Given the description of an element on the screen output the (x, y) to click on. 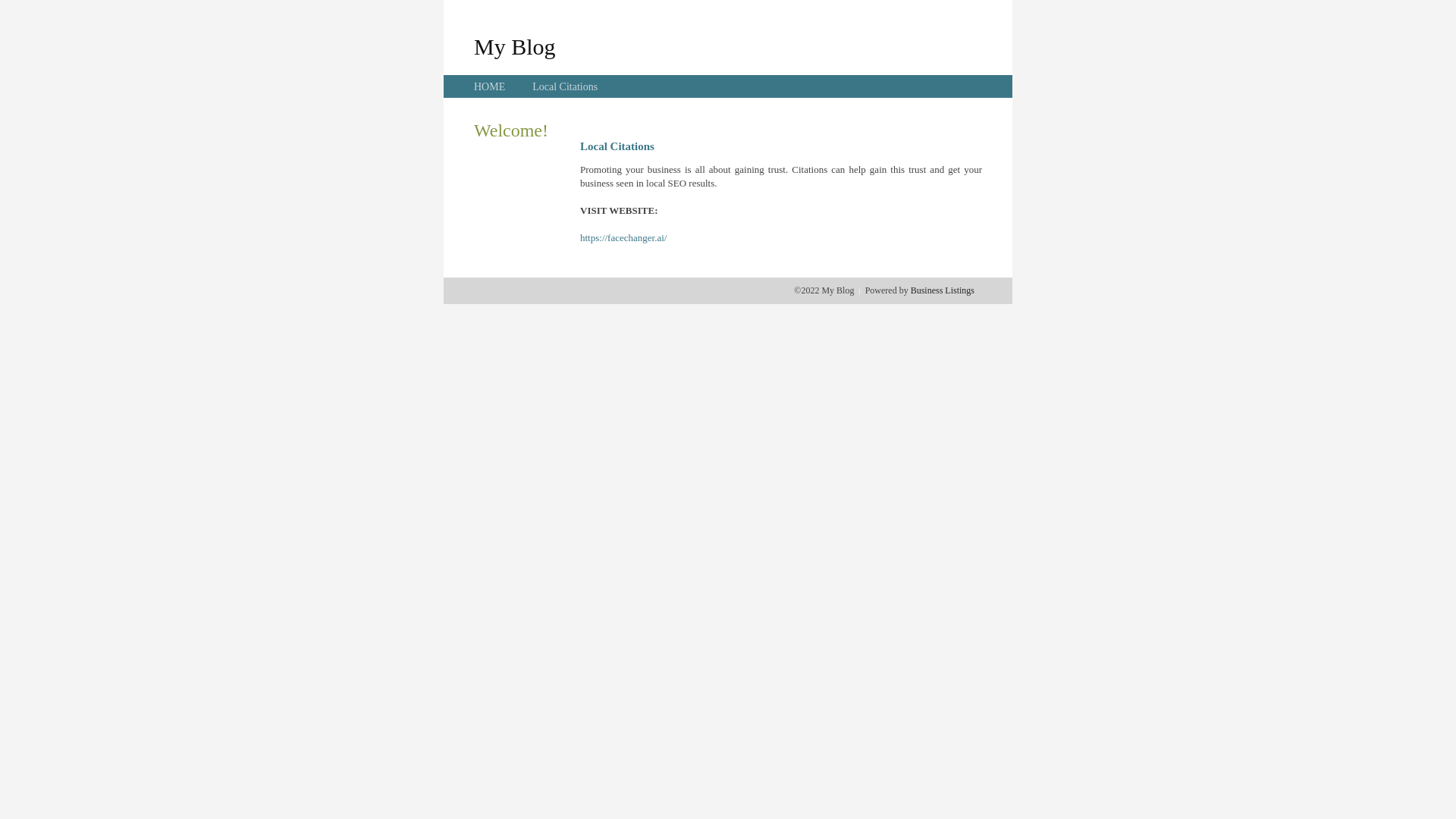
My Blog Element type: text (514, 46)
https://facechanger.ai/ Element type: text (623, 237)
HOME Element type: text (489, 86)
Local Citations Element type: text (564, 86)
Business Listings Element type: text (942, 290)
